Given the description of an element on the screen output the (x, y) to click on. 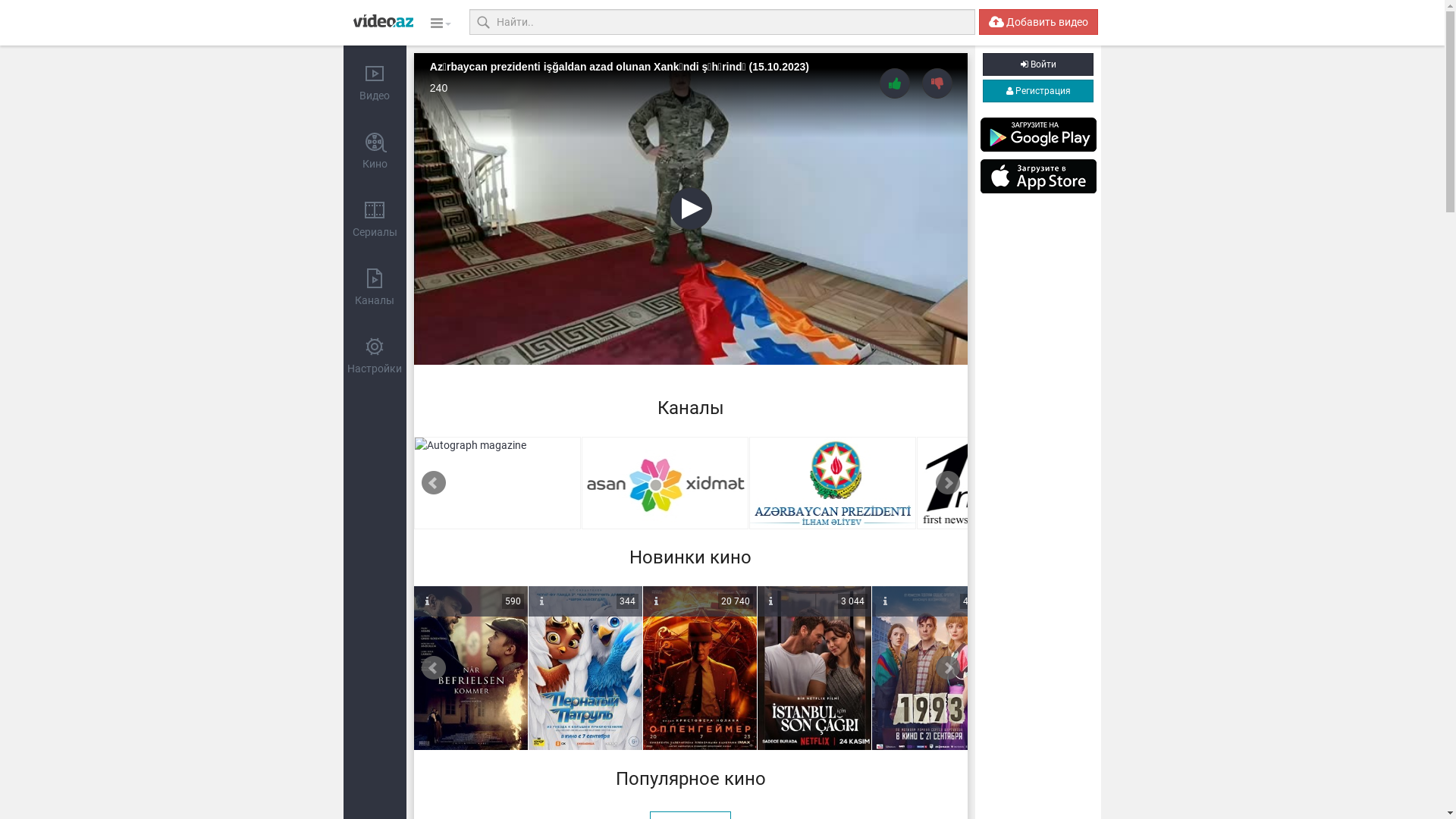
Next Element type: text (947, 482)
1993 (2023) HDRip Element type: hover (928, 668)
Autograph magazine Element type: hover (664, 482)
Prev Element type: text (433, 667)
Nargis Magazine Element type: hover (497, 482)
Next Element type: text (947, 667)
Prev Element type: text (433, 482)
